Given the description of an element on the screen output the (x, y) to click on. 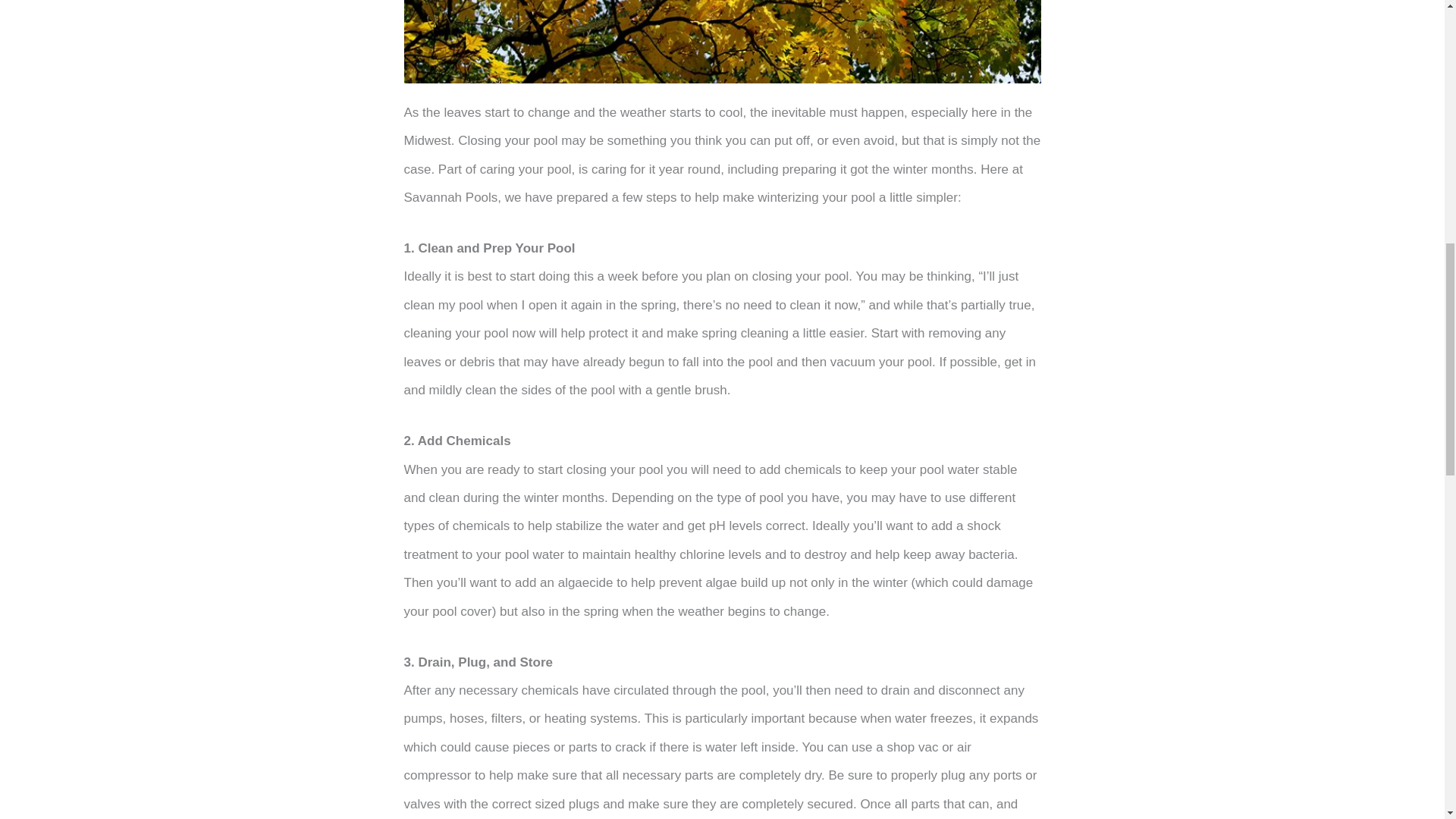
KONICA MINOLTA DIGITAL CAMERA (722, 41)
